Given the description of an element on the screen output the (x, y) to click on. 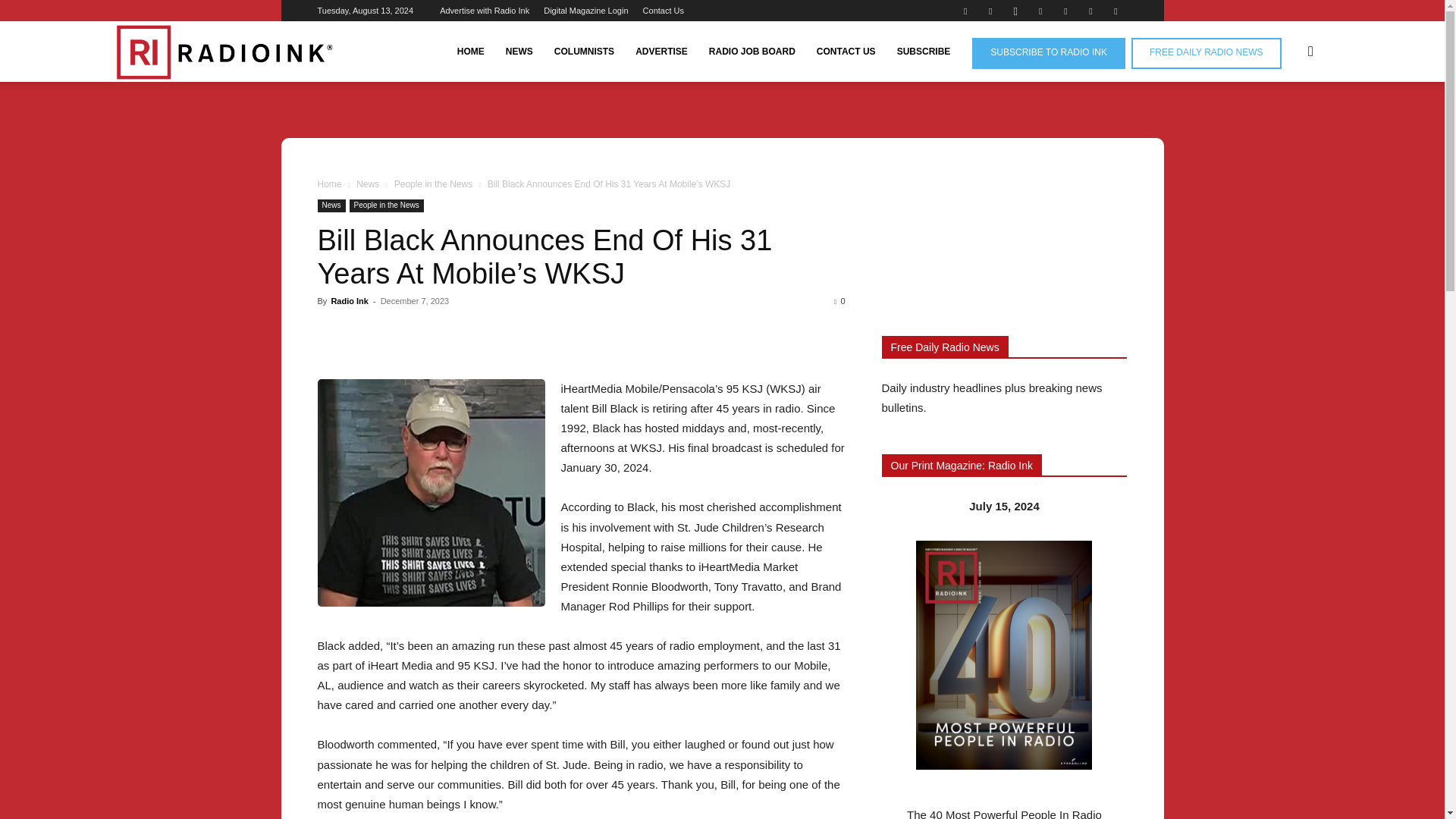
Linkedin (1040, 10)
Soundcloud (1065, 10)
Twitter (1090, 10)
Instagram (1015, 10)
SUBSCRIBE TO RADIO INK (1048, 52)
Youtube (1114, 10)
Flickr (989, 10)
Facebook (964, 10)
FREE DAILY RADIO NEWS (1206, 52)
